Given the description of an element on the screen output the (x, y) to click on. 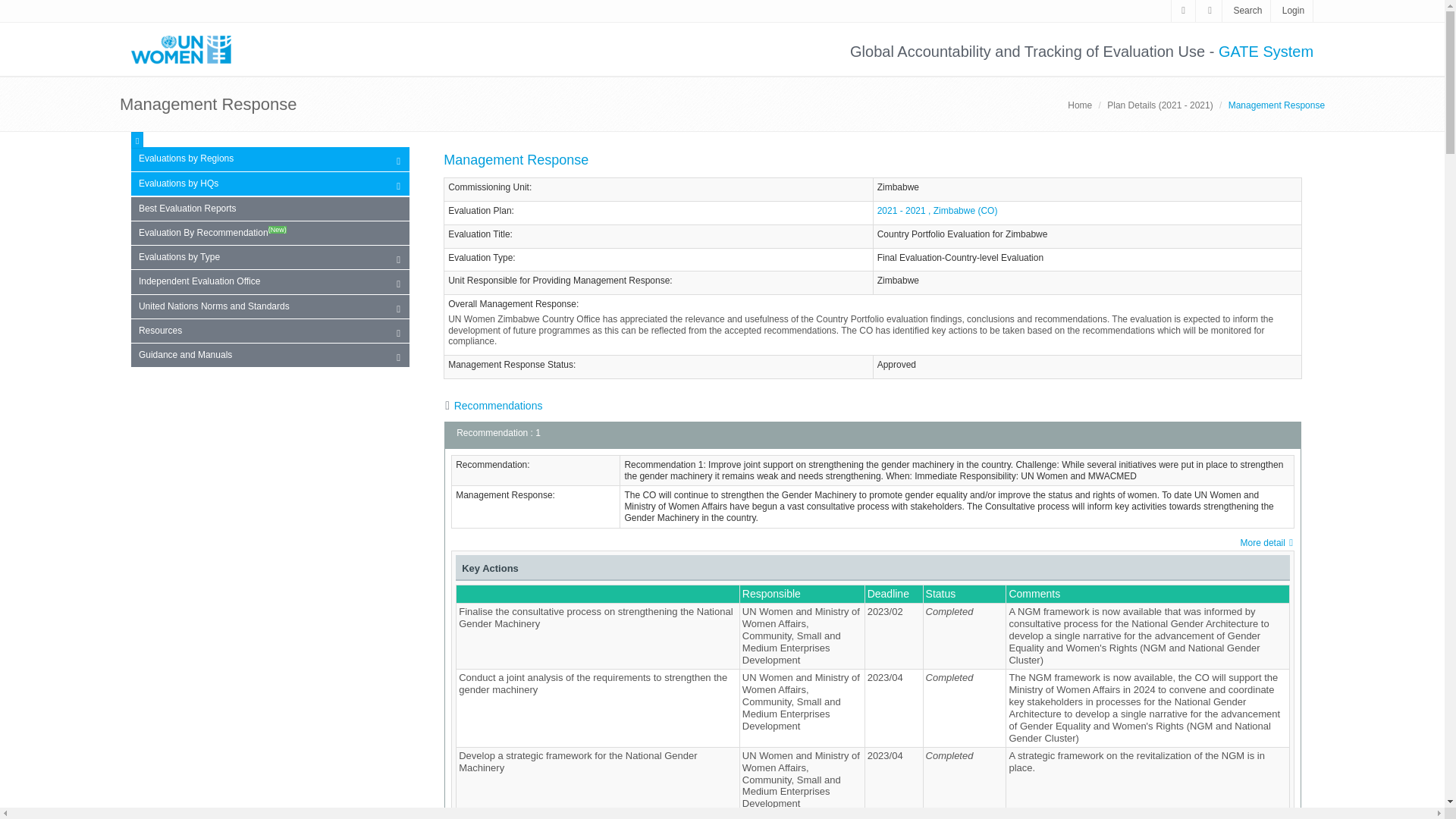
Home (1079, 104)
Evaluations by Regions (270, 159)
Search (1247, 9)
Login (1293, 9)
Unwomen (187, 49)
View Headquarters list (270, 183)
